Given the description of an element on the screen output the (x, y) to click on. 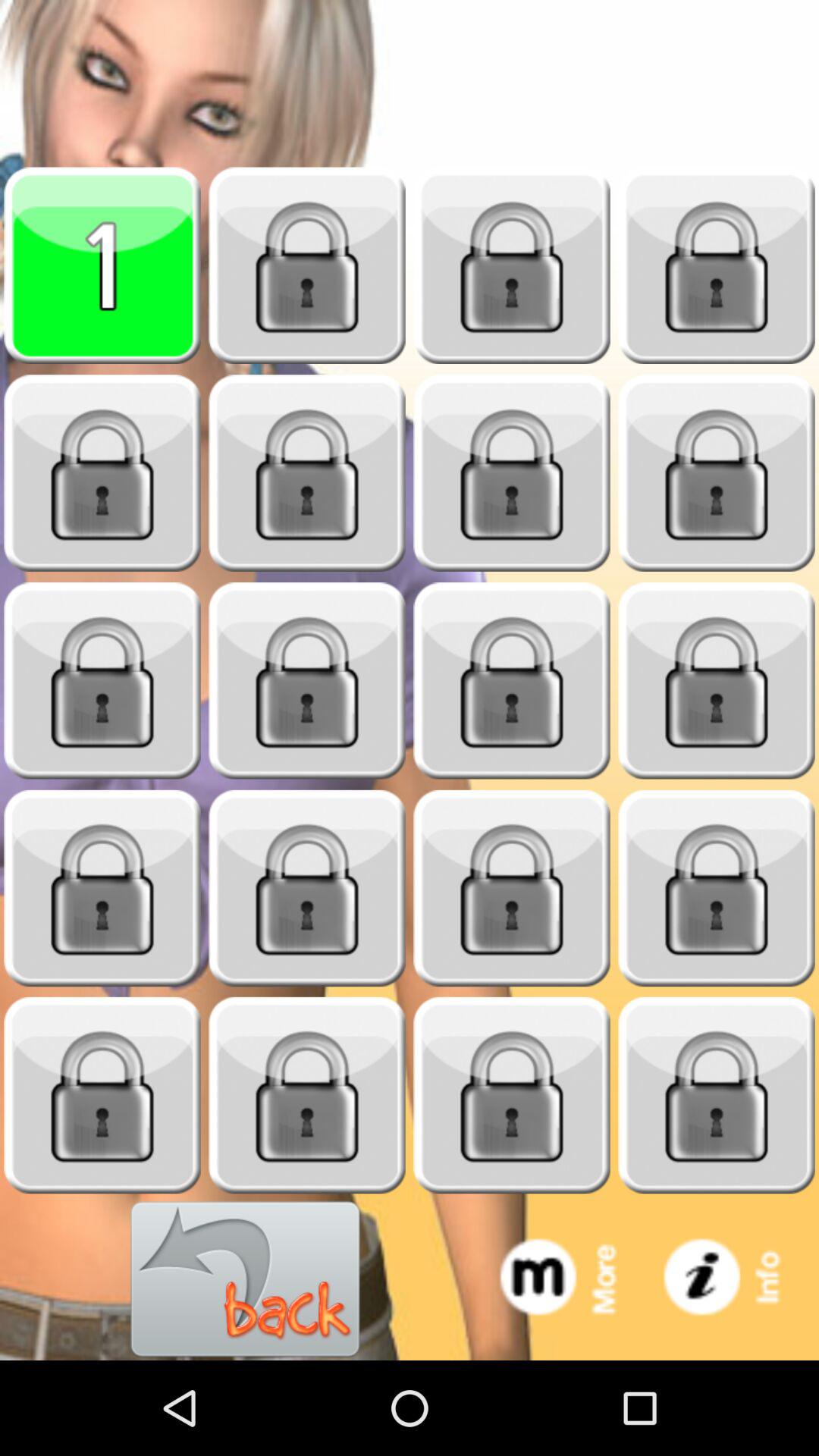
blok (102, 680)
